Given the description of an element on the screen output the (x, y) to click on. 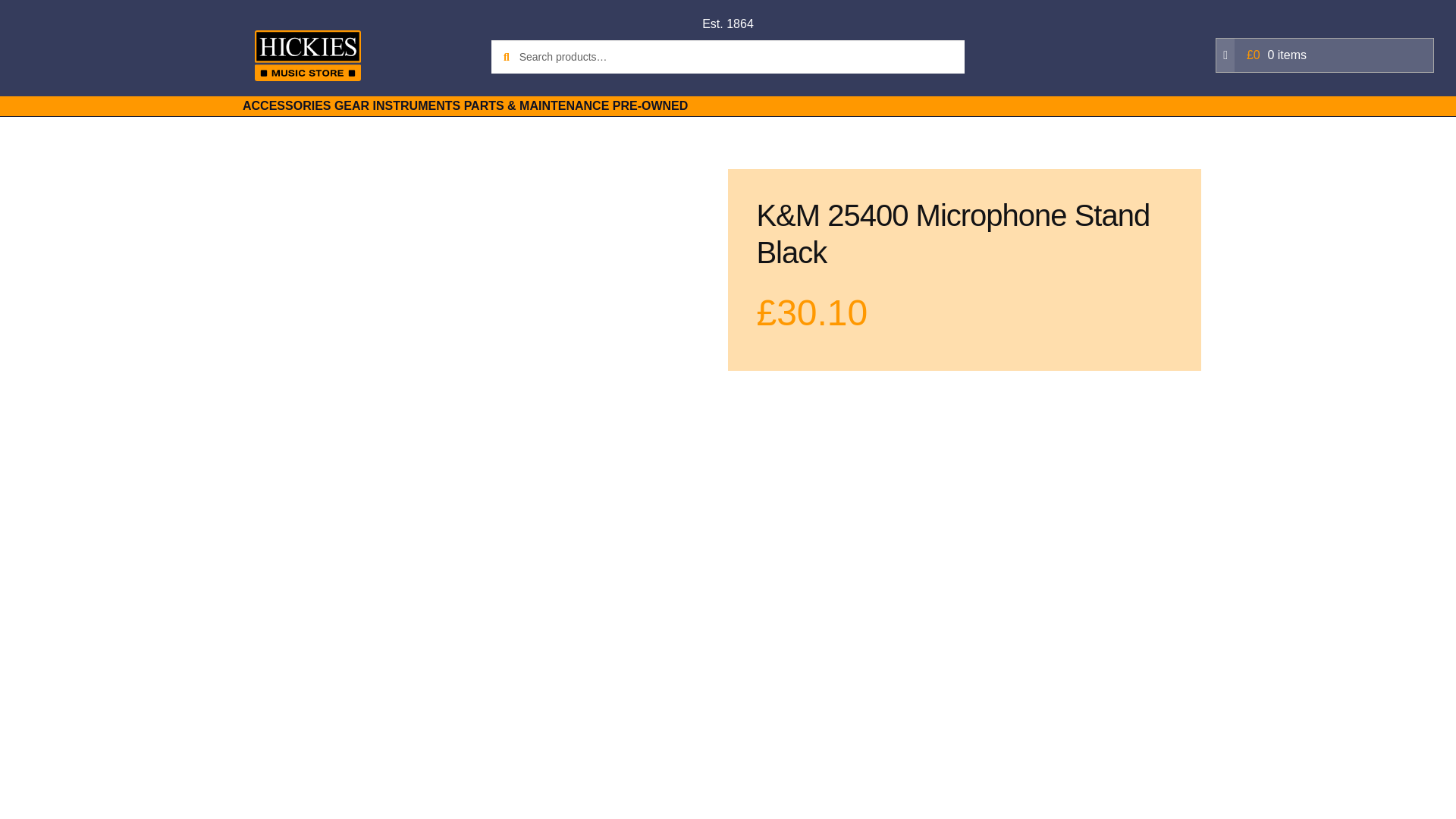
View your shopping basket (1323, 55)
GEAR (351, 106)
ACCESSORIES (286, 106)
PRE-OWNED (650, 106)
INSTRUMENTS (416, 106)
